Given the description of an element on the screen output the (x, y) to click on. 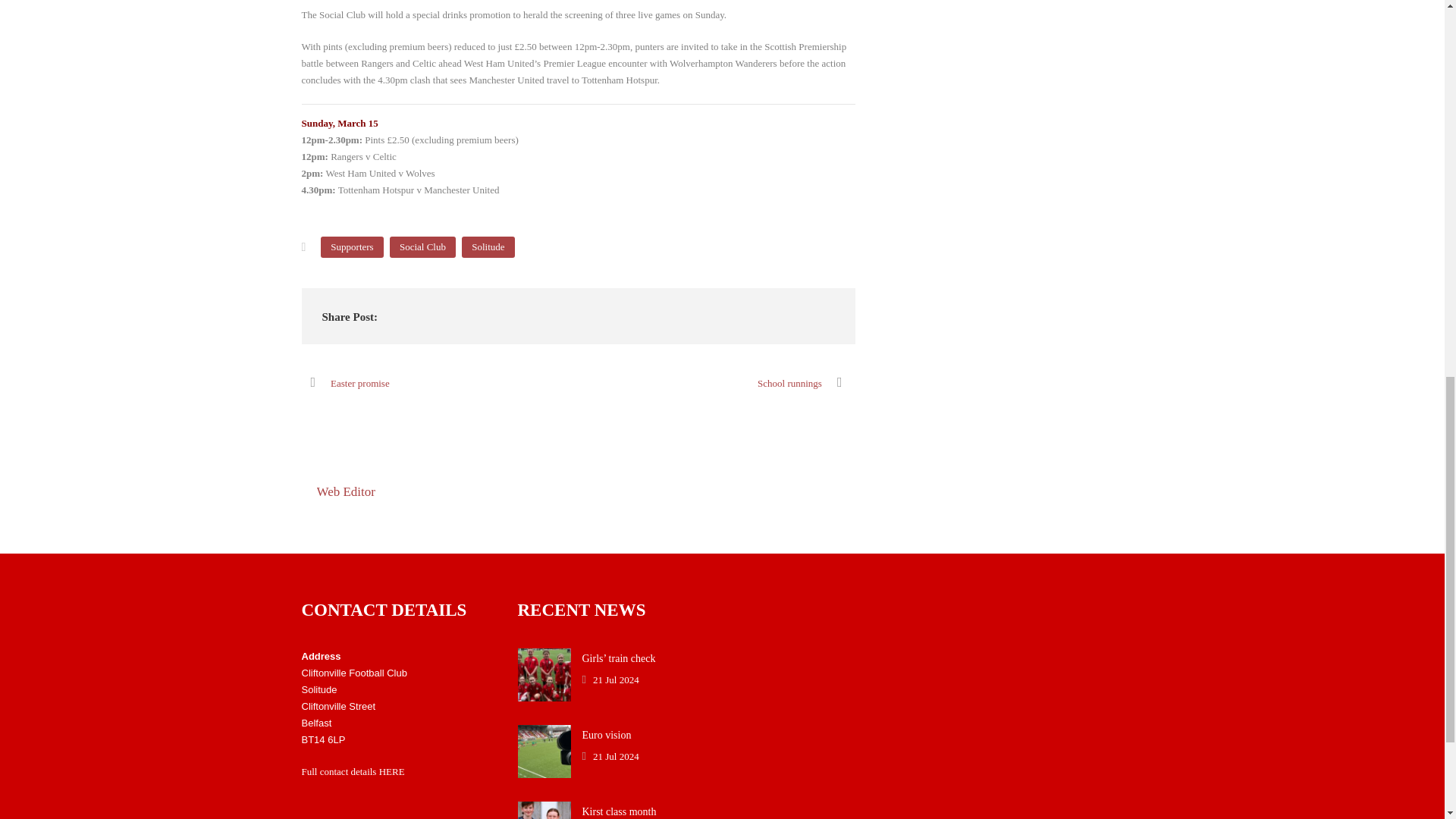
Posts by Web Editor (346, 491)
